Given the description of an element on the screen output the (x, y) to click on. 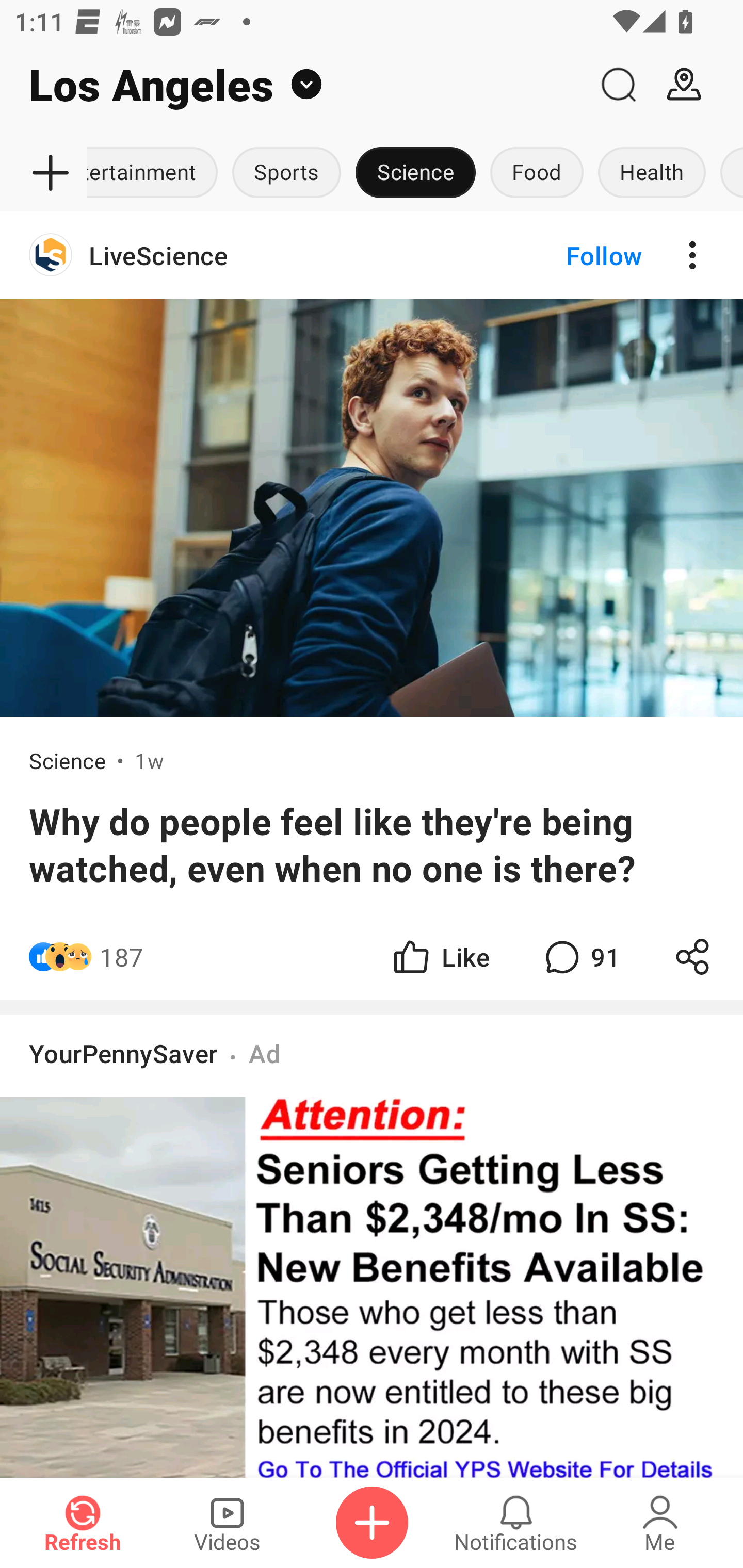
Los Angeles (292, 84)
Entertainment (155, 172)
Sports (286, 172)
Science (415, 172)
Food (536, 172)
Health (651, 172)
LiveScience Follow (371, 255)
Follow (569, 255)
187 (121, 957)
Like (439, 957)
91 (579, 957)
YourPennySaver (122, 1053)
Videos (227, 1522)
Notifications (516, 1522)
Me (659, 1522)
